Given the description of an element on the screen output the (x, y) to click on. 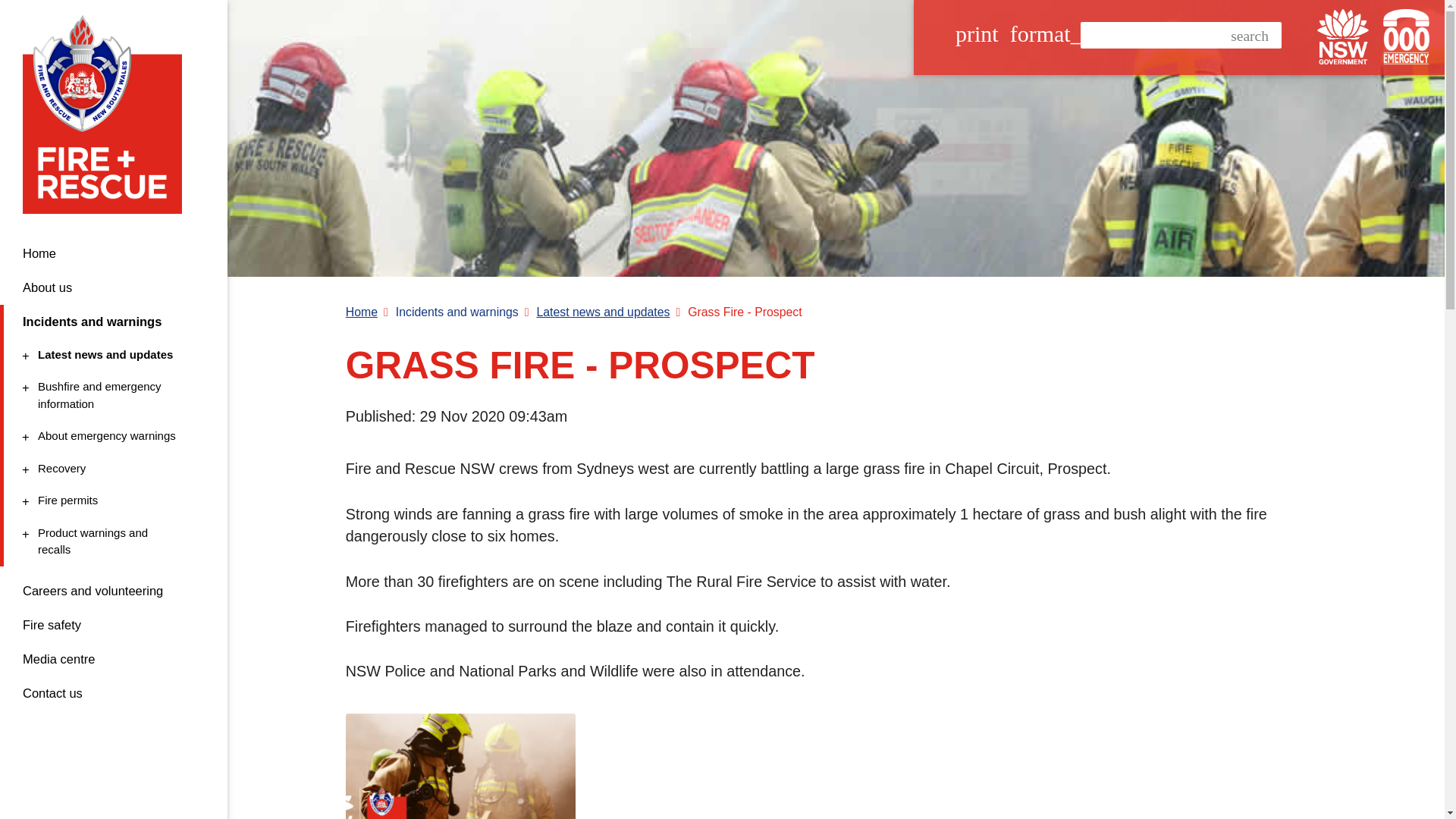
Home (113, 253)
Recovery (111, 468)
Latest news and updates (111, 354)
NSW Government (111, 541)
About emergency warnings (1342, 36)
Fire and Rescue NSW (111, 395)
Fire permits (111, 436)
